Given the description of an element on the screen output the (x, y) to click on. 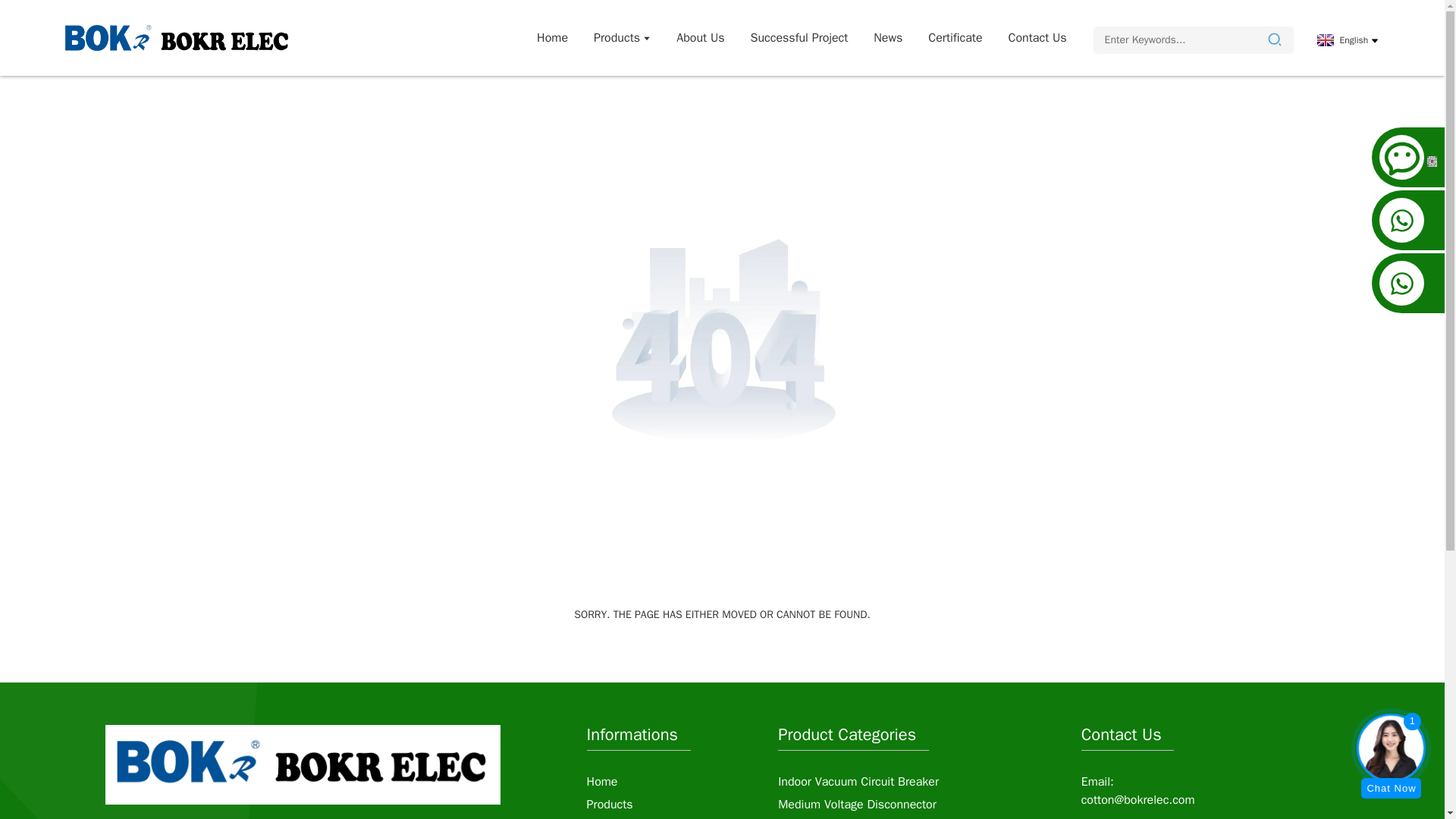
Successful Project (799, 37)
News (887, 37)
Certificate (954, 37)
Contact Us (1036, 37)
Contact Us (1036, 37)
products (622, 37)
Successful Project (799, 37)
About Us (699, 37)
Home (601, 781)
Home (551, 37)
